Given the description of an element on the screen output the (x, y) to click on. 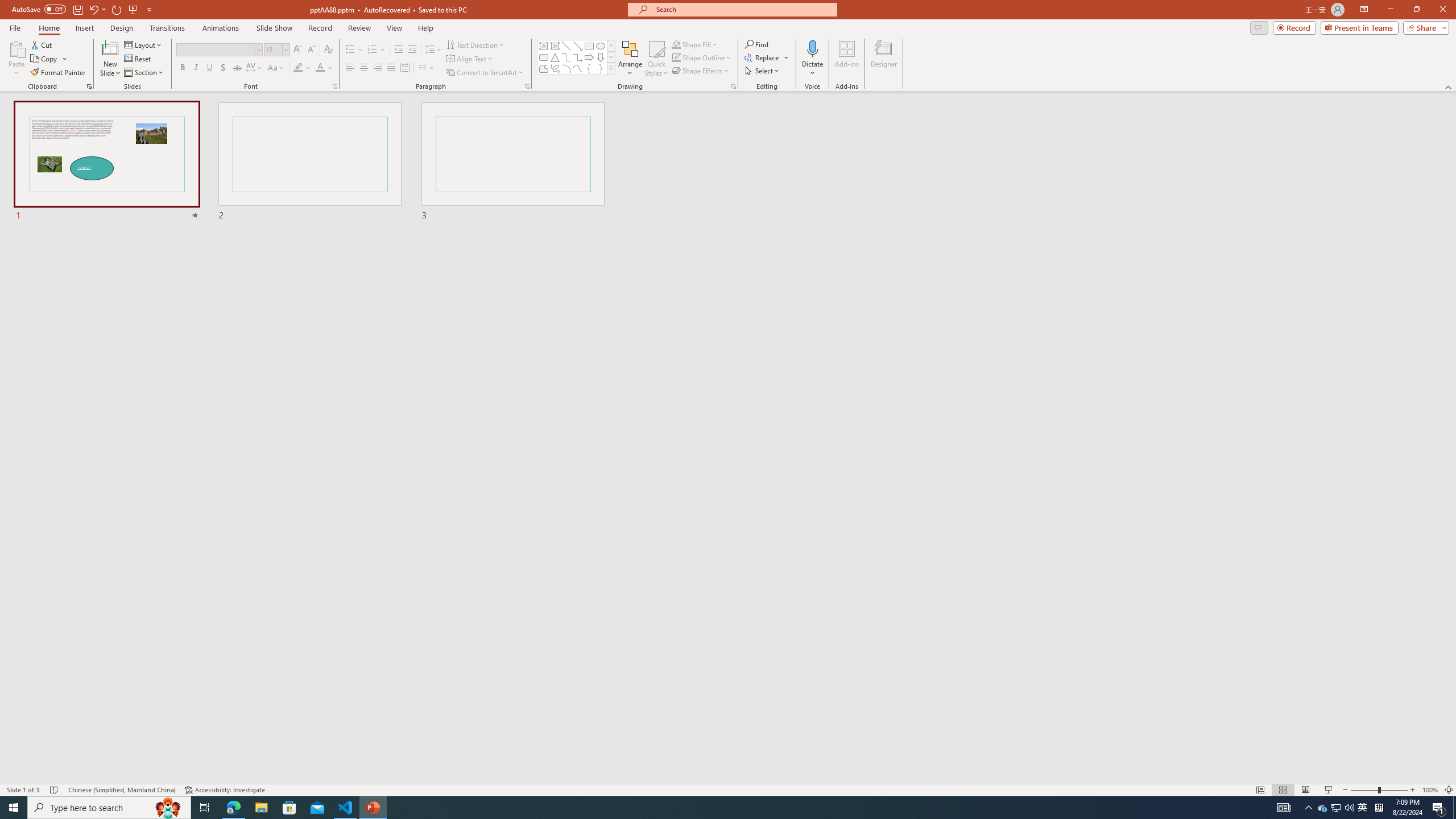
Review (359, 28)
Record (1294, 27)
Shapes (611, 68)
Close (1442, 9)
Slide Show (273, 28)
Shape Outline Teal, Accent 1 (675, 56)
Paste (16, 58)
Zoom 100% (1430, 790)
Curve (577, 68)
Format Object... (733, 85)
Shape Outline (701, 56)
Slide (513, 161)
System (6, 6)
Connector: Elbow (566, 57)
Undo (96, 9)
